Given the description of an element on the screen output the (x, y) to click on. 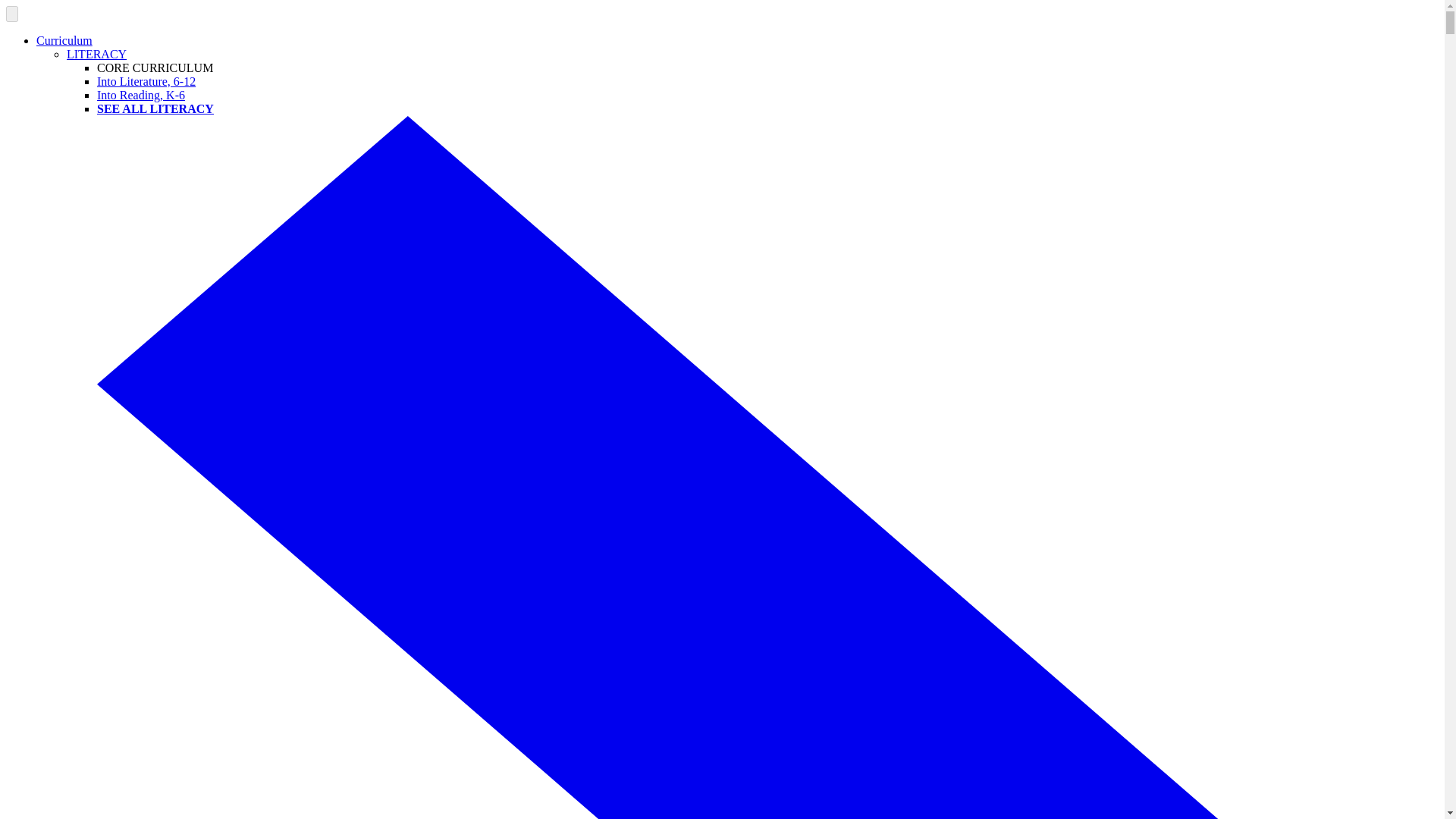
Curriculum (64, 40)
Into Reading, K-6 (140, 94)
Into Literature, 6-12 (146, 81)
LITERACY (96, 53)
Into Reading, K-6 (140, 94)
Into Literature, 6-12 (146, 81)
